Given the description of an element on the screen output the (x, y) to click on. 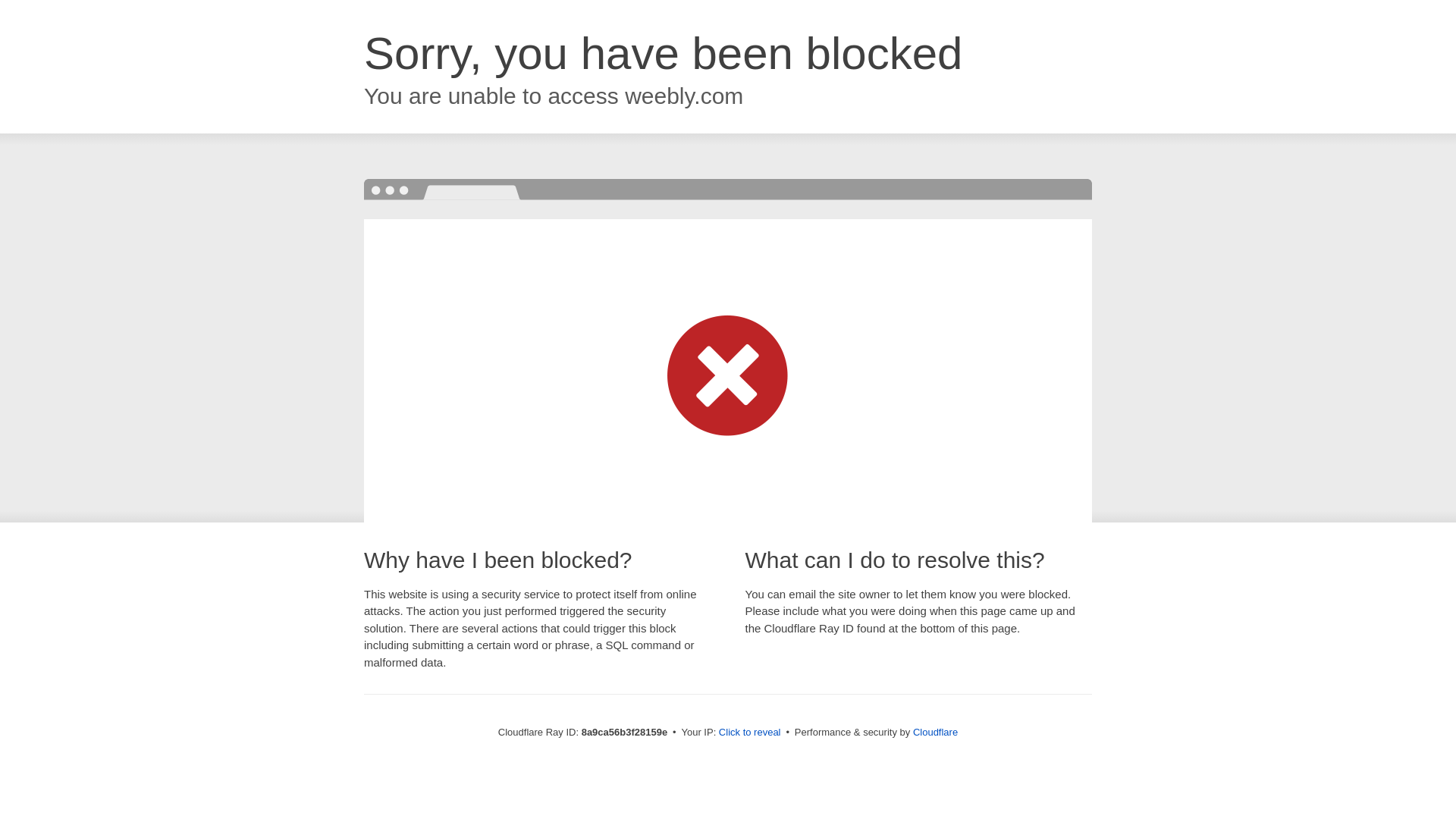
Click to reveal (749, 732)
Cloudflare (935, 731)
